Given the description of an element on the screen output the (x, y) to click on. 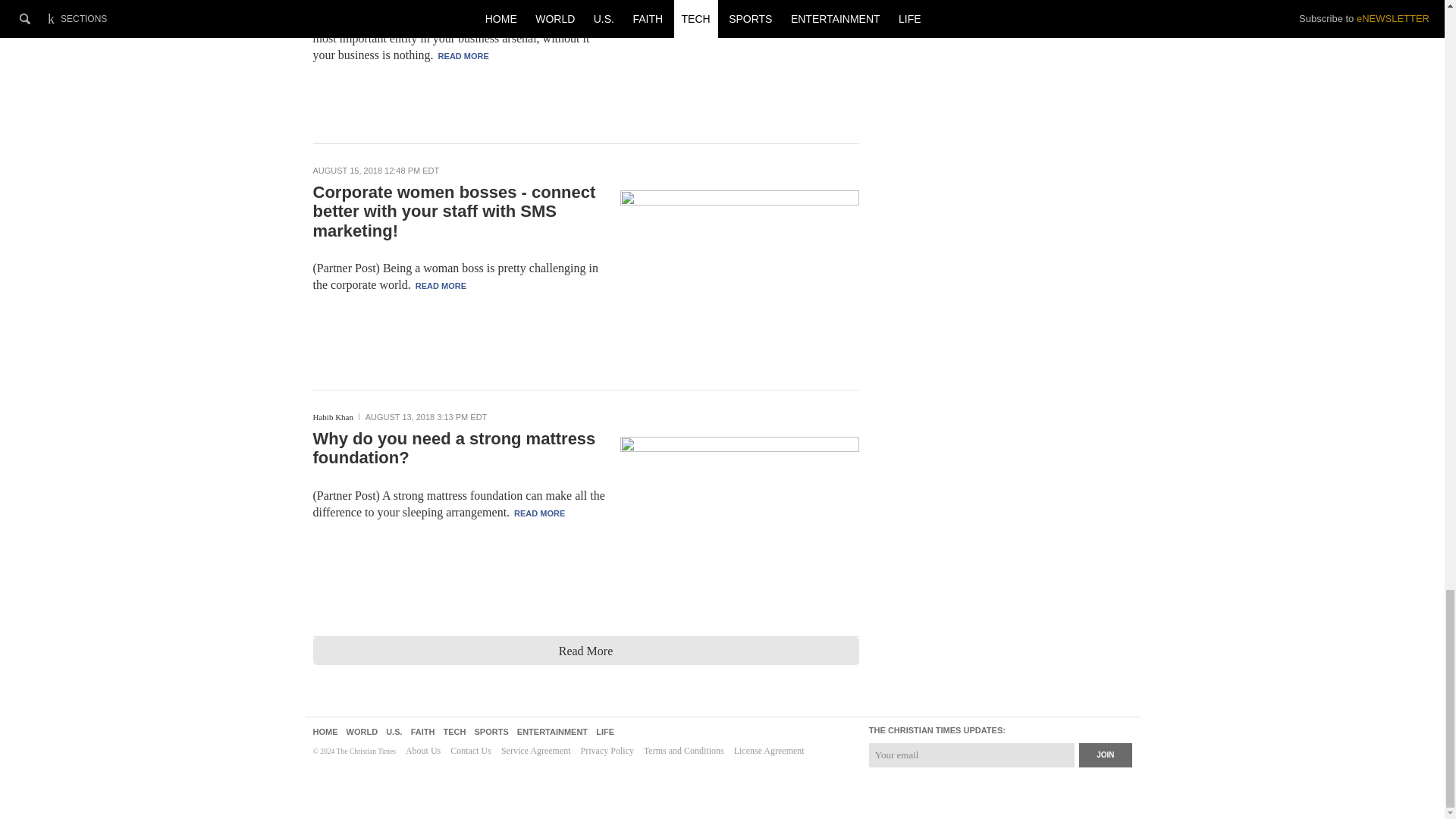
Join (1104, 754)
